Given the description of an element on the screen output the (x, y) to click on. 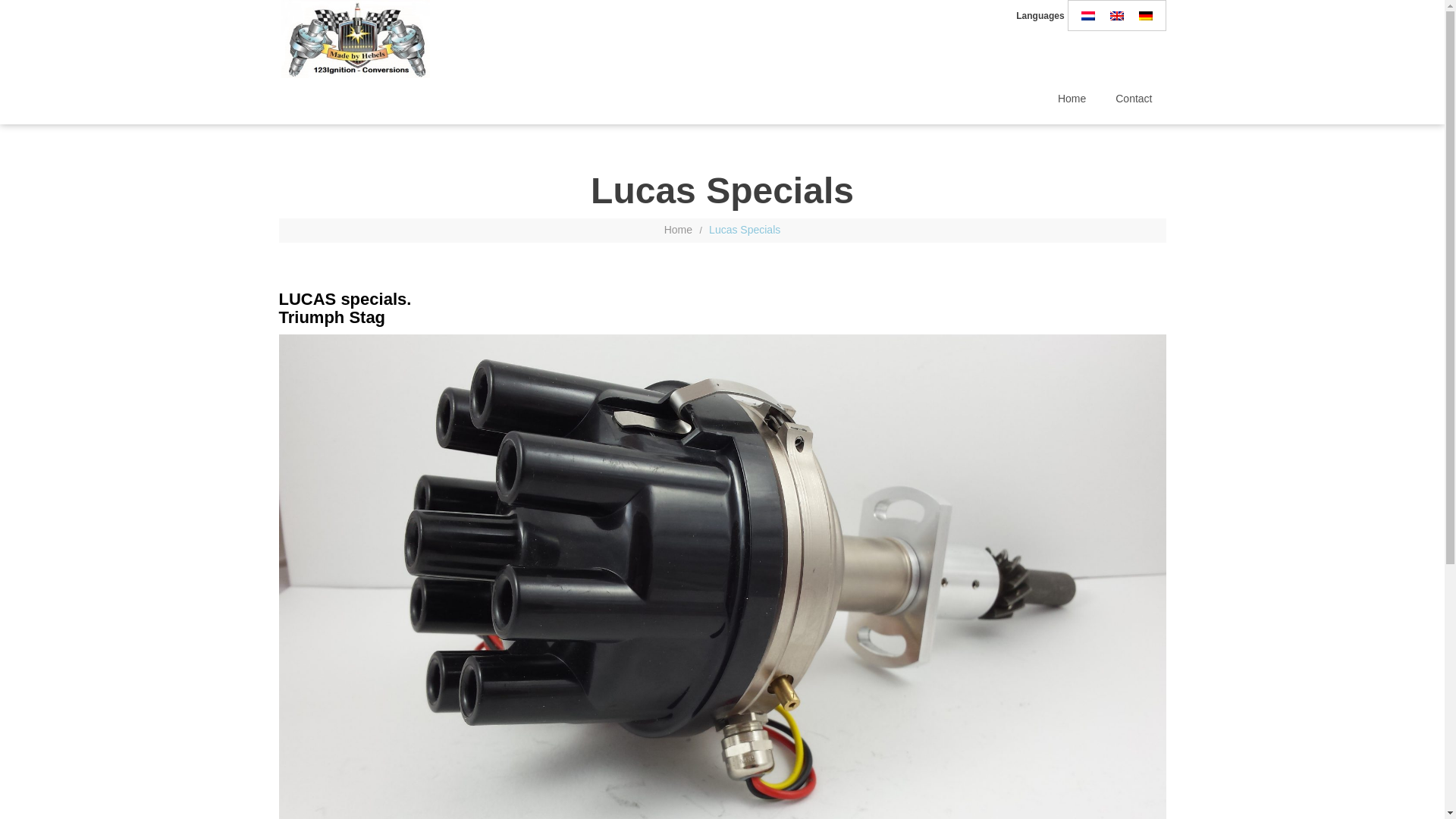
Contact Element type: text (1133, 98)
Home Element type: text (678, 229)
Home Element type: text (1071, 98)
